Given the description of an element on the screen output the (x, y) to click on. 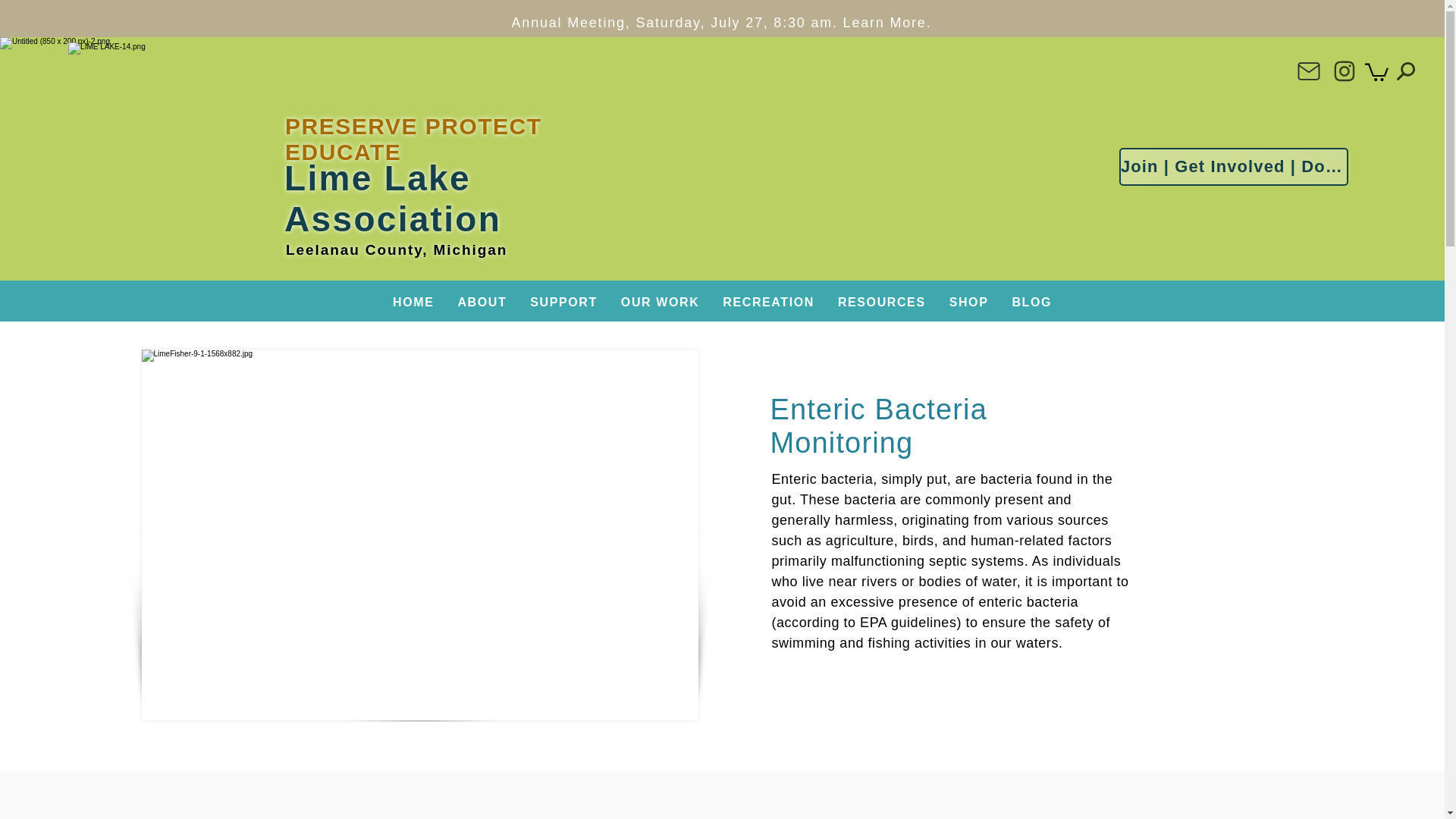
BLOG (1031, 302)
SHOP (968, 302)
Annual Meeting, Saturday, July 27, 8:30 am. Learn More. (721, 22)
HOME (413, 302)
